Given the description of an element on the screen output the (x, y) to click on. 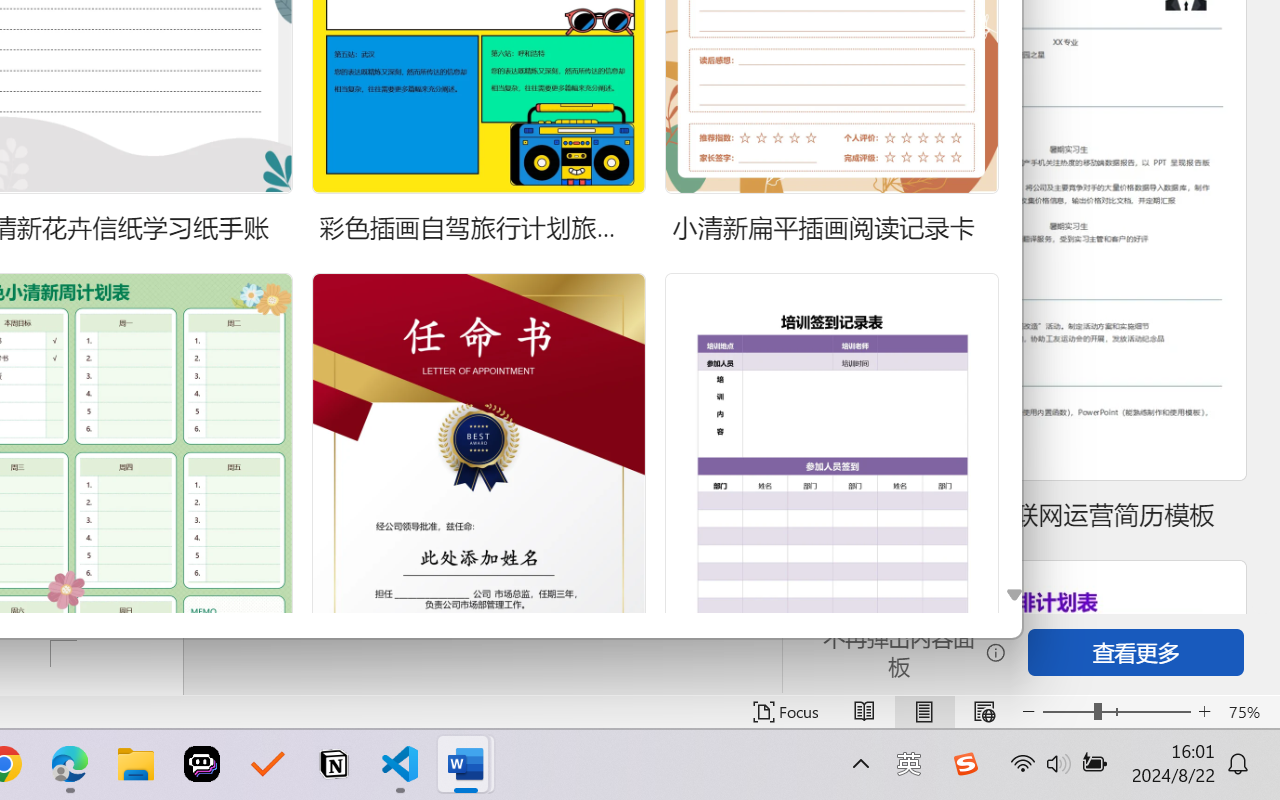
Zoom In (1204, 712)
Zoom Out (1067, 712)
Focus  (786, 712)
Class: Image (965, 764)
Print Layout (924, 712)
Notion (333, 764)
